Given the description of an element on the screen output the (x, y) to click on. 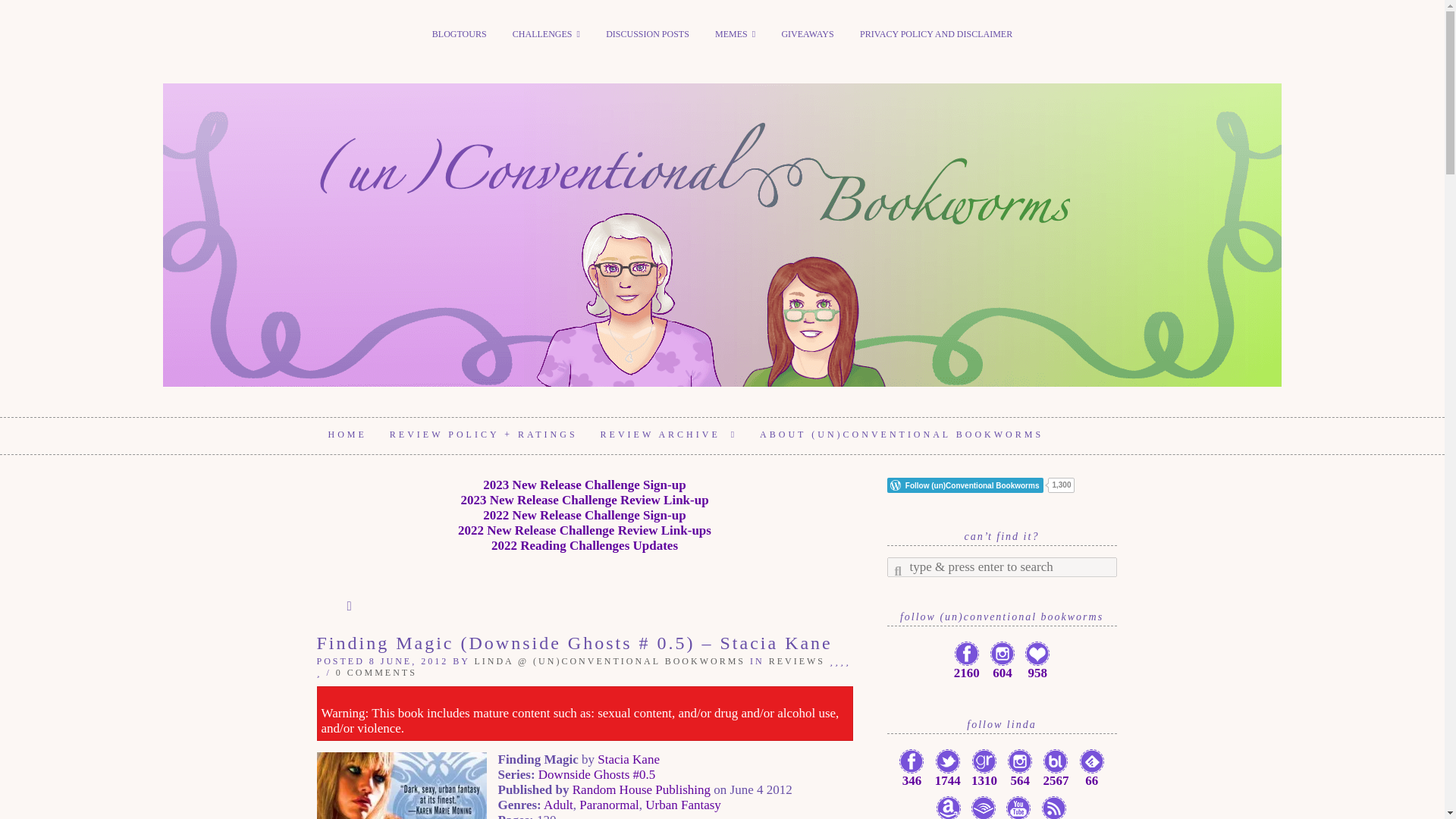
GIVEAWAYS (807, 34)
BLOGTOURS (458, 34)
HOME (347, 434)
View all posts in Reviews (796, 661)
REVIEW ARCHIVE   (669, 434)
MEMES   (735, 34)
DISCUSSION POSTS (647, 34)
PRIVACY POLICY AND DISCLAIMER (935, 34)
CHALLENGES   (545, 34)
Follow Button (1001, 485)
